Given the description of an element on the screen output the (x, y) to click on. 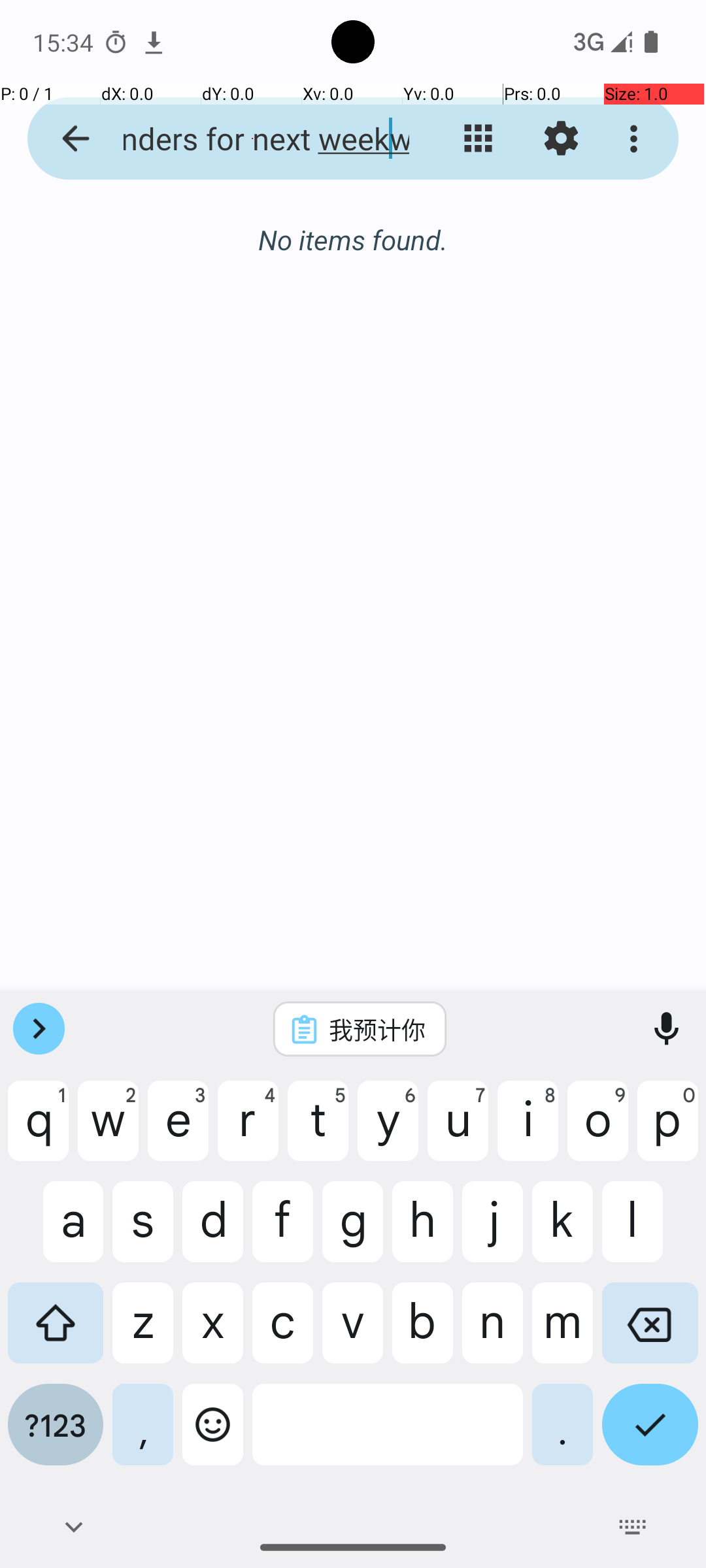
upcoming eventmeeting project deadline reminders for next weekwith teams this week Element type: android.widget.EditText (252, 138)
我预计你 Element type: android.widget.TextView (376, 1028)
